Given the description of an element on the screen output the (x, y) to click on. 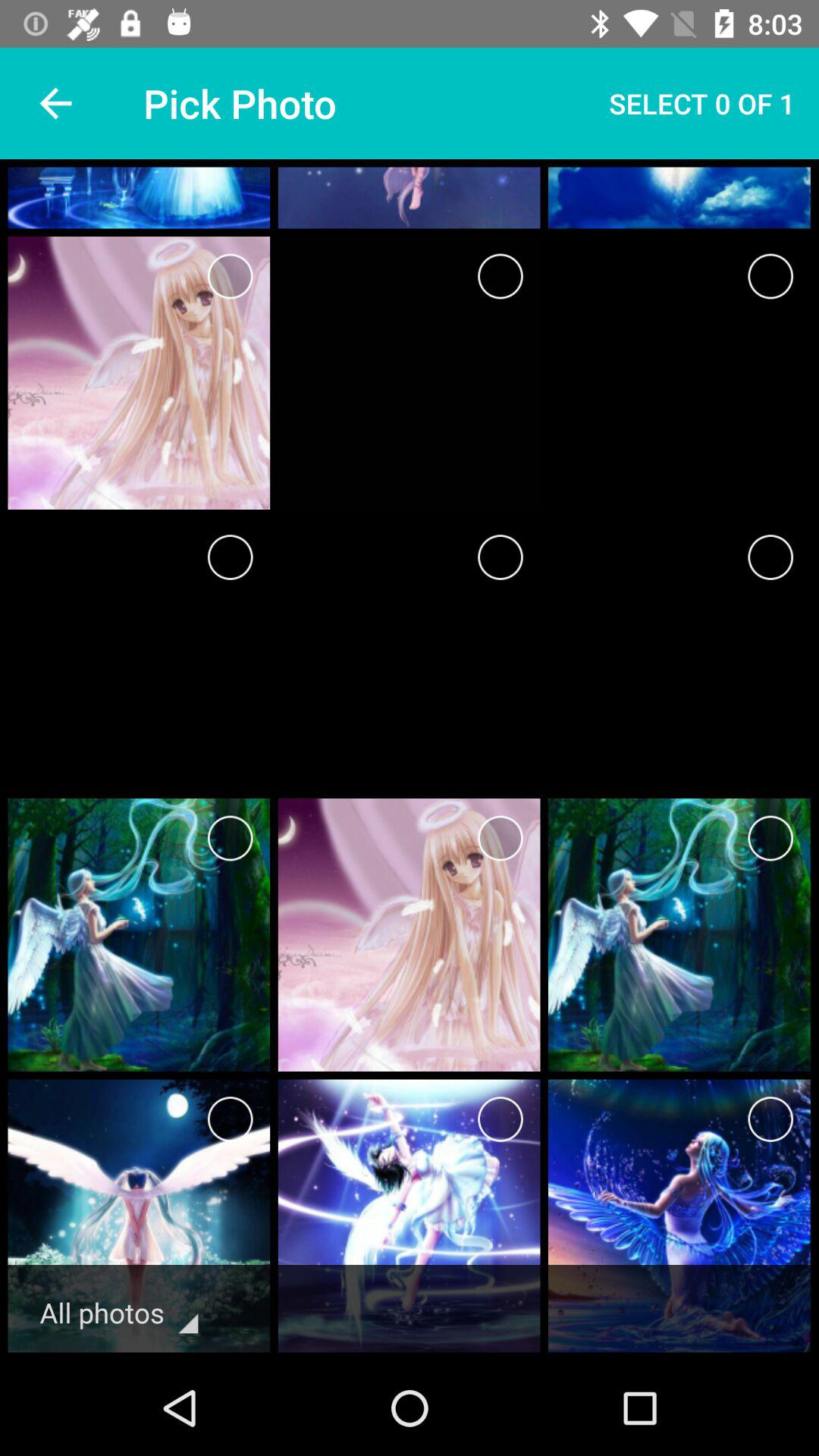
option (770, 276)
